Given the description of an element on the screen output the (x, y) to click on. 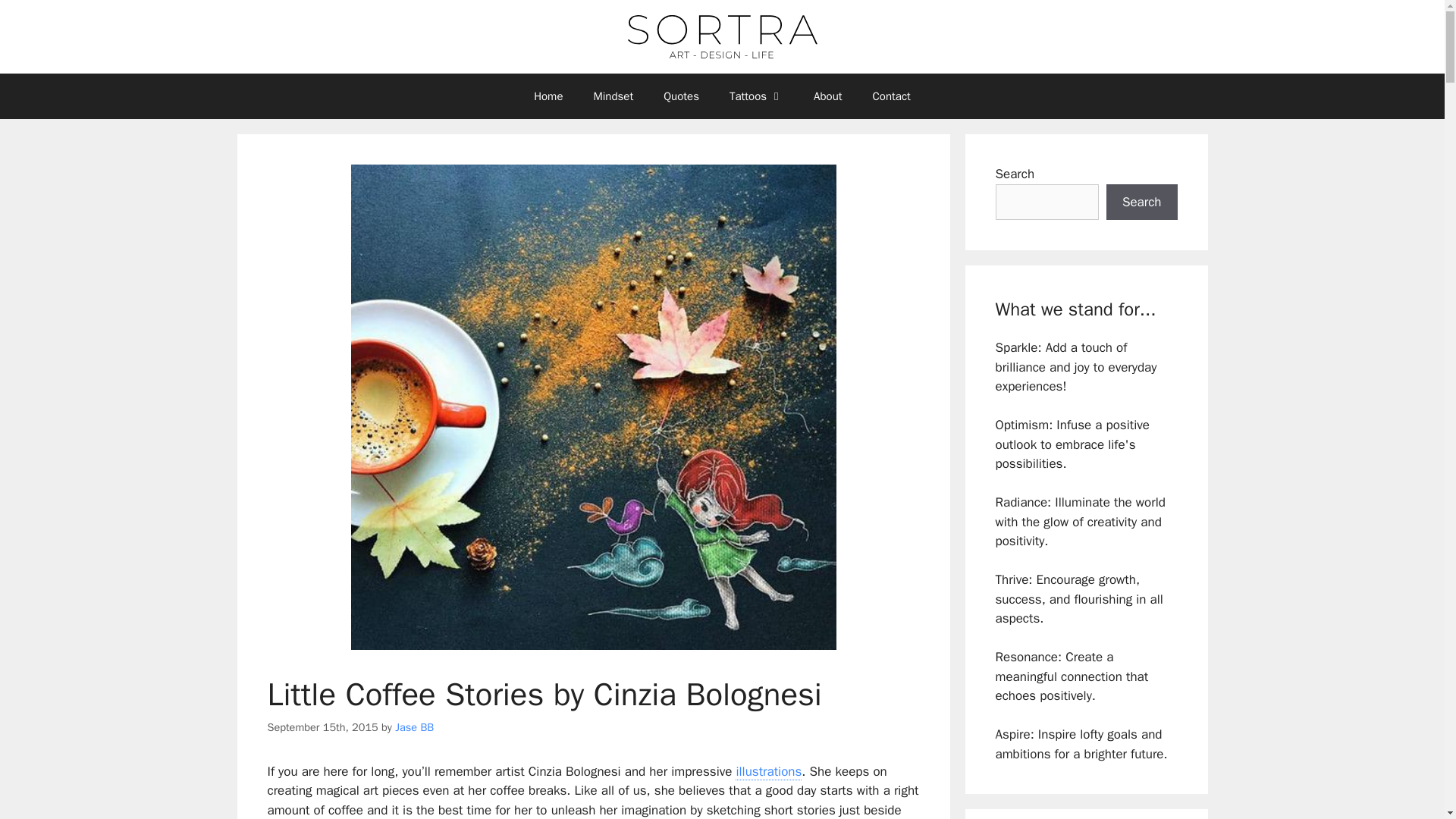
Tattoos (755, 95)
Contact (891, 95)
Quotes (680, 95)
Home (548, 95)
Jase BB (413, 726)
Mindset (612, 95)
View all posts by Jase BB (413, 726)
illustrations (768, 771)
Search (1141, 202)
About (827, 95)
